Given the description of an element on the screen output the (x, y) to click on. 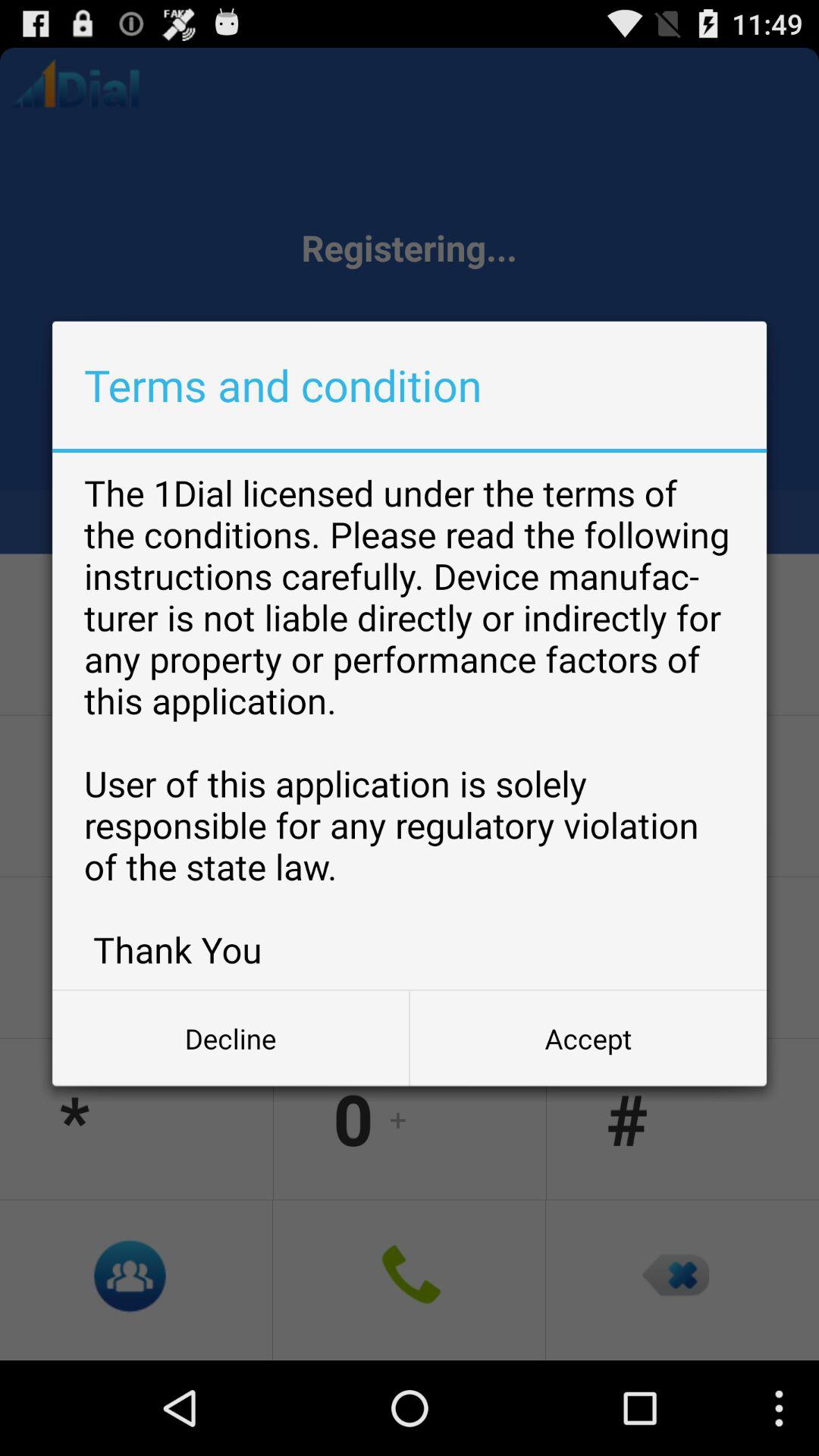
select the decline (230, 1038)
